Given the description of an element on the screen output the (x, y) to click on. 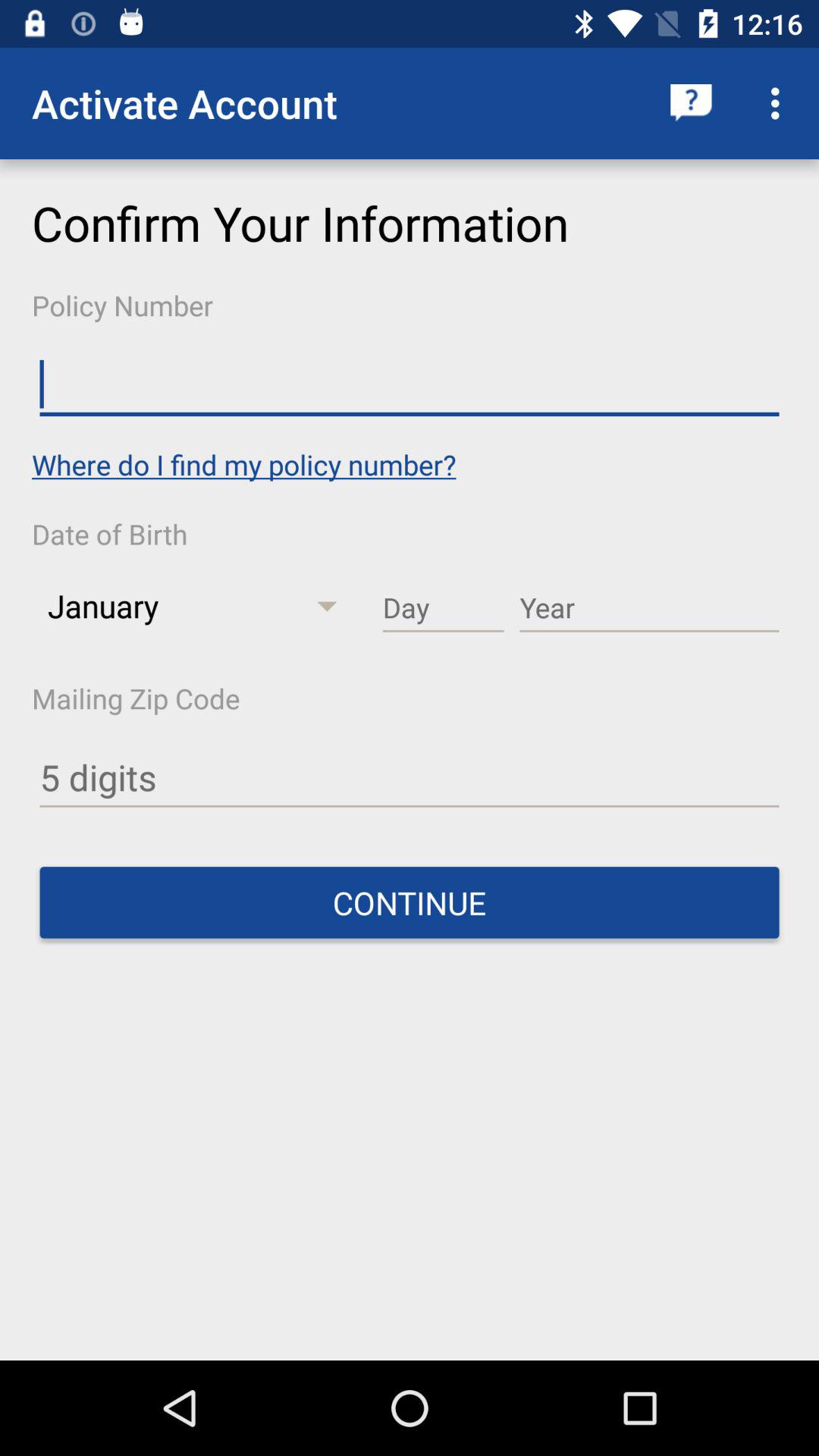
choose the item to the right of the january icon (442, 607)
